Given the description of an element on the screen output the (x, y) to click on. 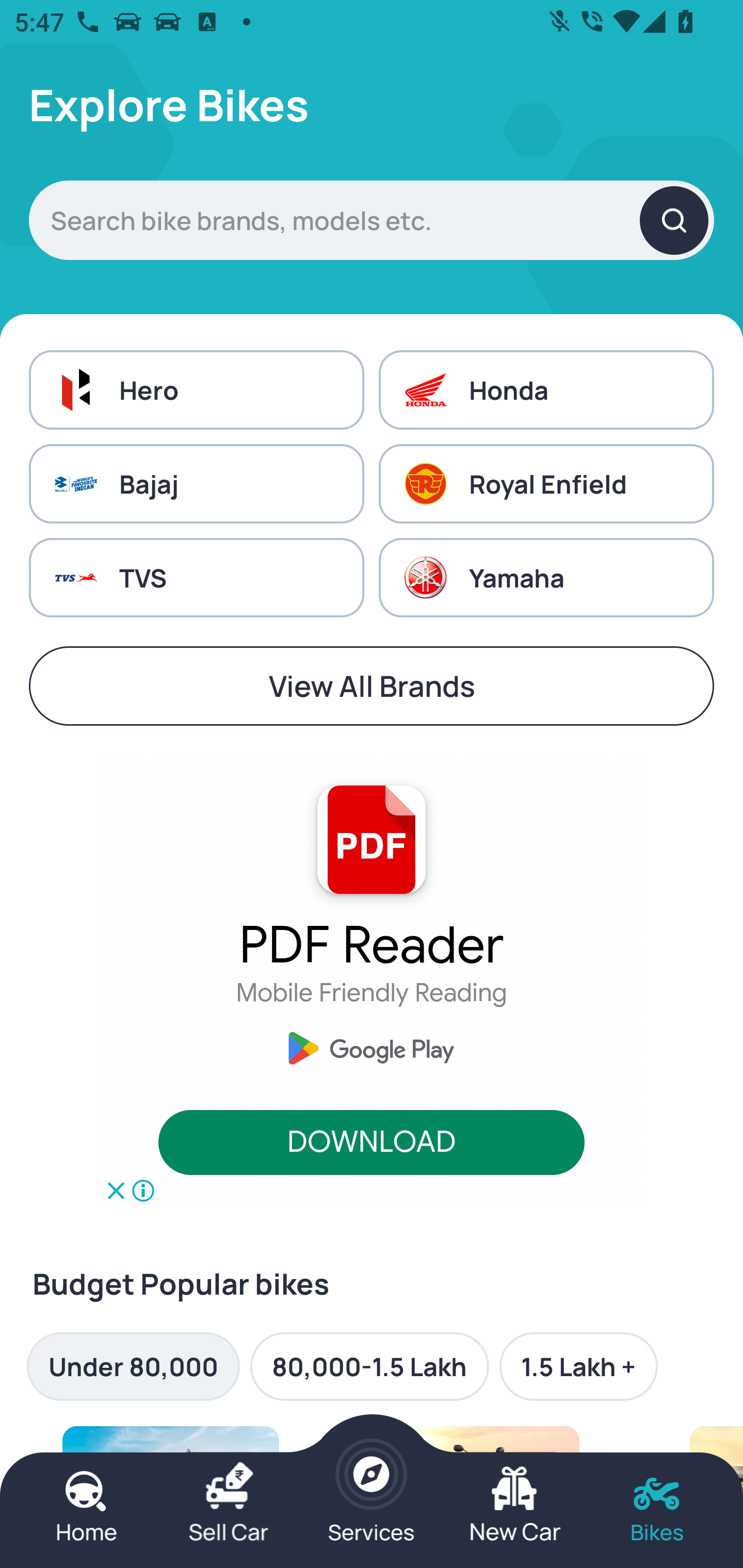
Search bike brands, models etc. (371, 220)
Hero (196, 389)
Honda (546, 389)
Bajaj (196, 483)
Royal Enfield (546, 483)
TVS (196, 577)
Yamaha (546, 577)
View All Brands (371, 685)
DOWNLOAD (371, 1142)
80,000-1.5 Lakh (369, 1366)
1.5 Lakh + (578, 1366)
